Given the description of an element on the screen output the (x, y) to click on. 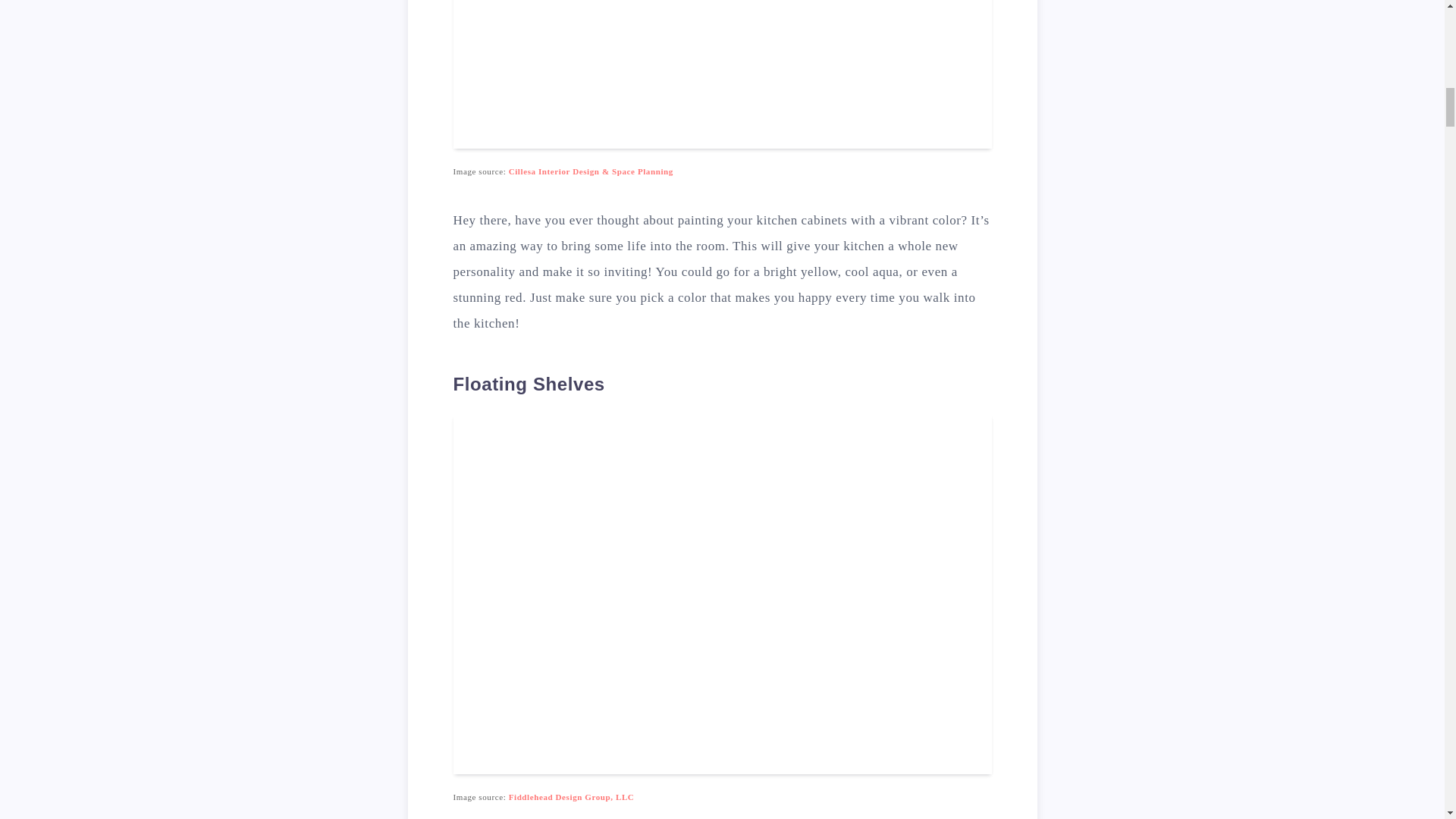
Fiddlehead Design Group, LLC (571, 796)
